Given the description of an element on the screen output the (x, y) to click on. 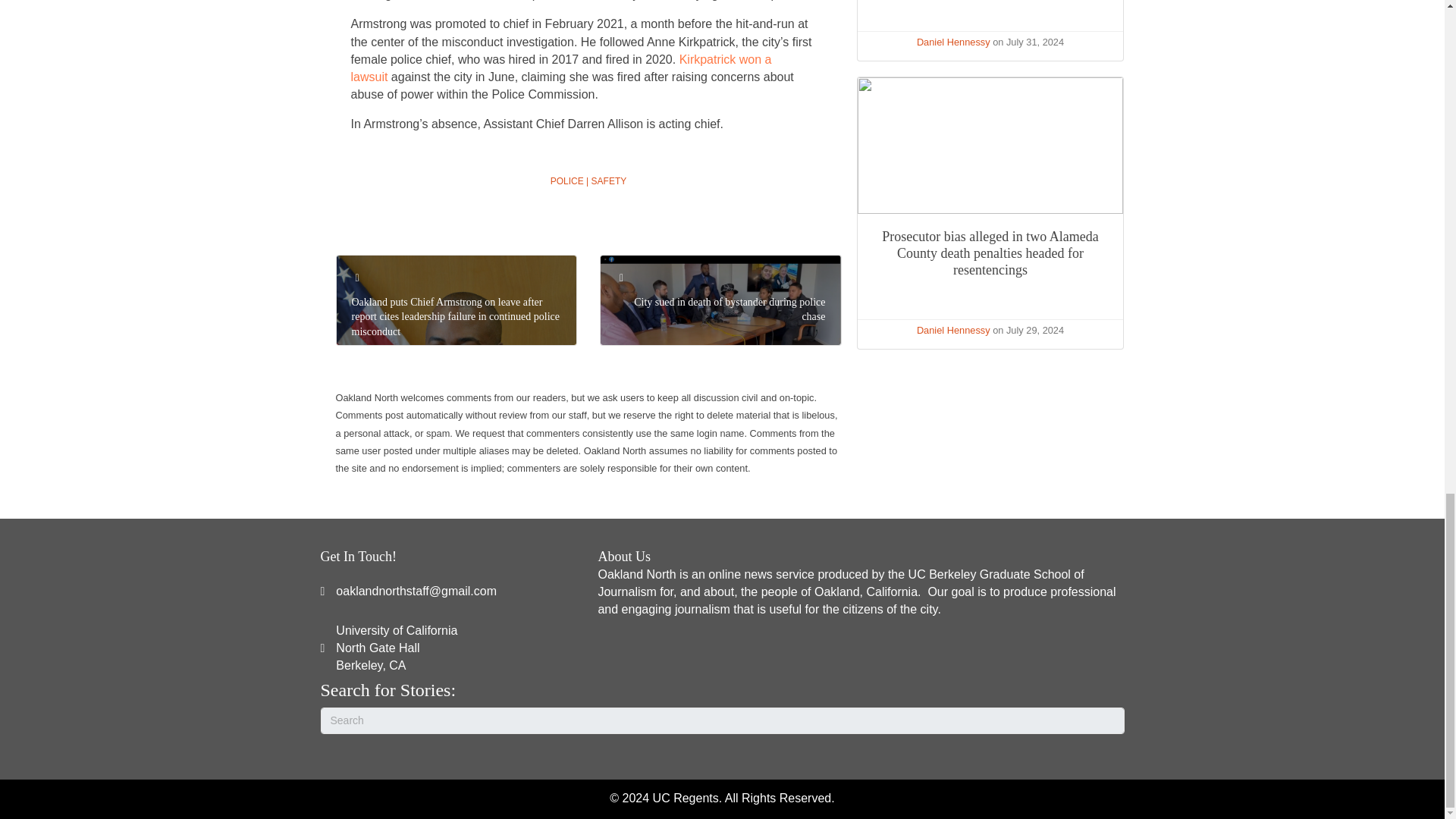
City sued in death of bystander during police chase (729, 309)
SAFETY (609, 181)
Kirkpatrick won a lawsuit  (560, 68)
POLICE (566, 181)
Daniel Hennessy (953, 41)
Type and press Enter to search. (396, 647)
Daniel Hennessy (722, 720)
